Given the description of an element on the screen output the (x, y) to click on. 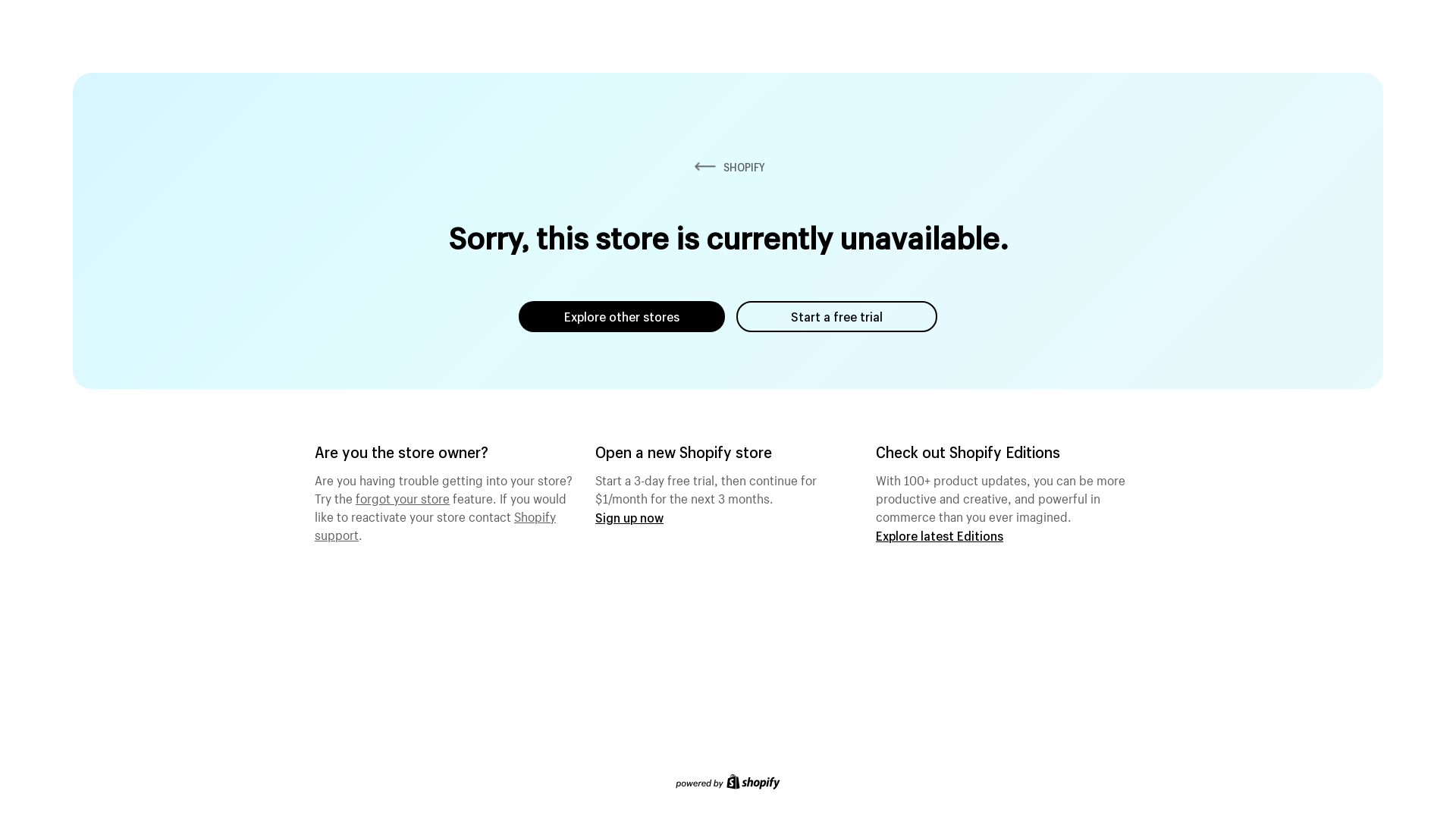
Start a free trial Element type: text (836, 316)
forgot your store Element type: text (402, 496)
SHOPIFY Element type: text (727, 167)
Explore other stores Element type: text (621, 316)
Sign up now Element type: text (629, 517)
Explore latest Editions Element type: text (939, 535)
Shopify support Element type: text (434, 523)
